Given the description of an element on the screen output the (x, y) to click on. 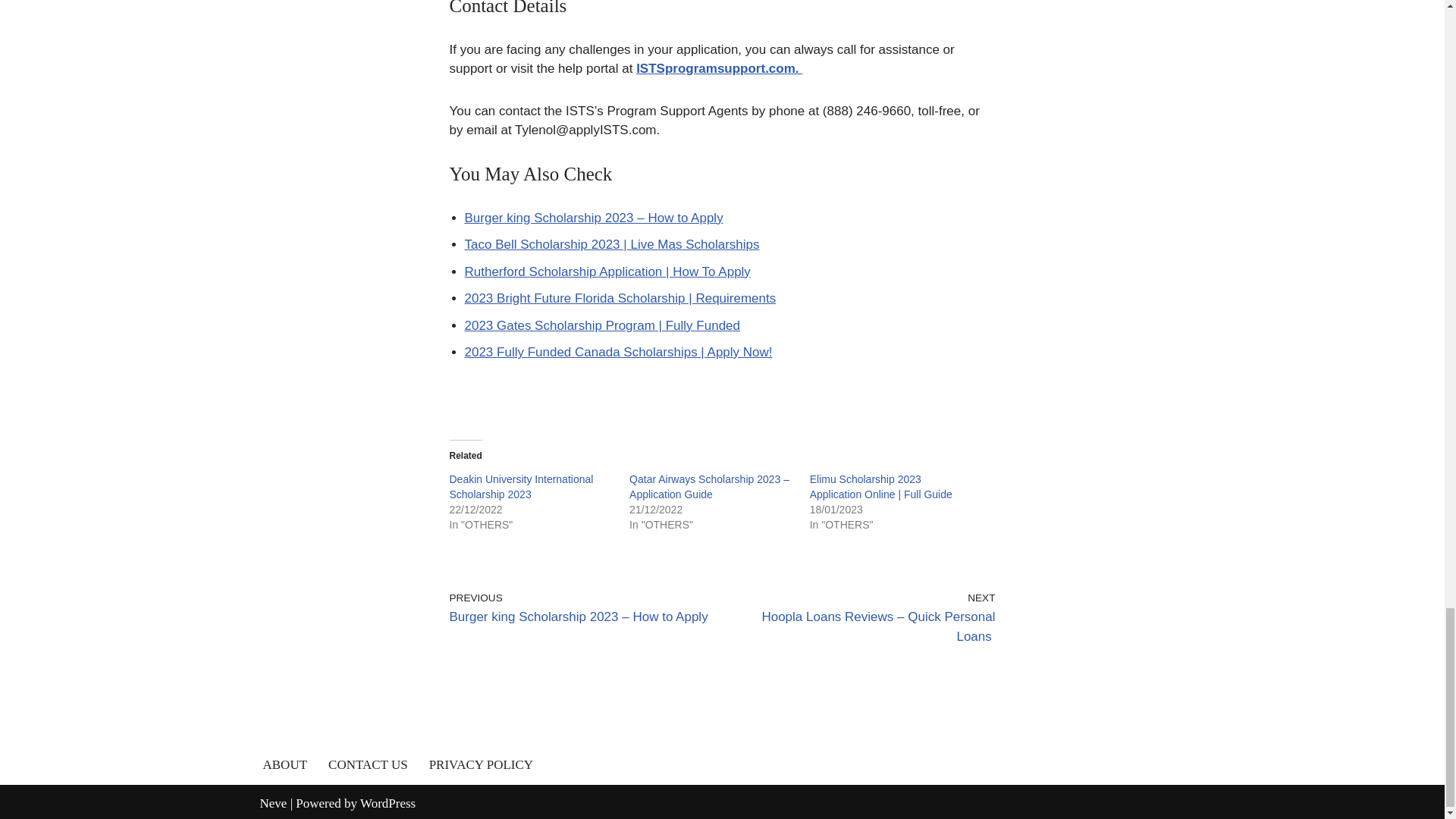
Neve (272, 803)
PRIVACY POLICY (480, 763)
Deakin University International Scholarship 2023 (520, 486)
CONTACT US (368, 763)
Deakin University International Scholarship 2023 (520, 486)
ISTSprogramsupport.com.  (719, 68)
WordPress (386, 803)
ABOUT (284, 763)
